Given the description of an element on the screen output the (x, y) to click on. 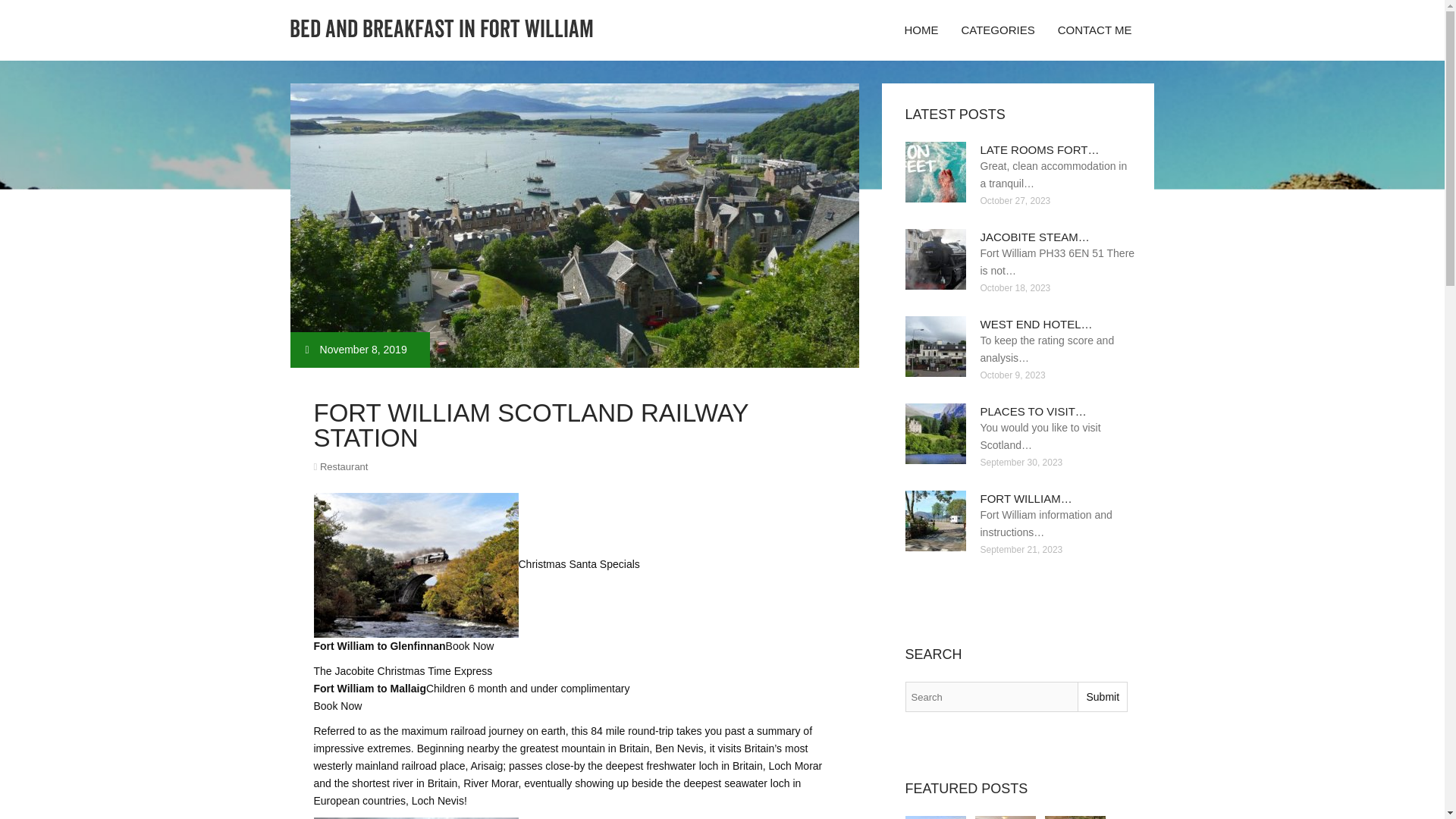
CONTACT ME (1094, 30)
Accommodation Fort William Scotland (1075, 817)
Submit (1101, 696)
Bed and Breakfast in Fort William Scotland (1005, 817)
Fort William Scotland Travelodge (935, 817)
Restaurant (344, 466)
HOME (920, 30)
CATEGORIES (997, 30)
